Given the description of an element on the screen output the (x, y) to click on. 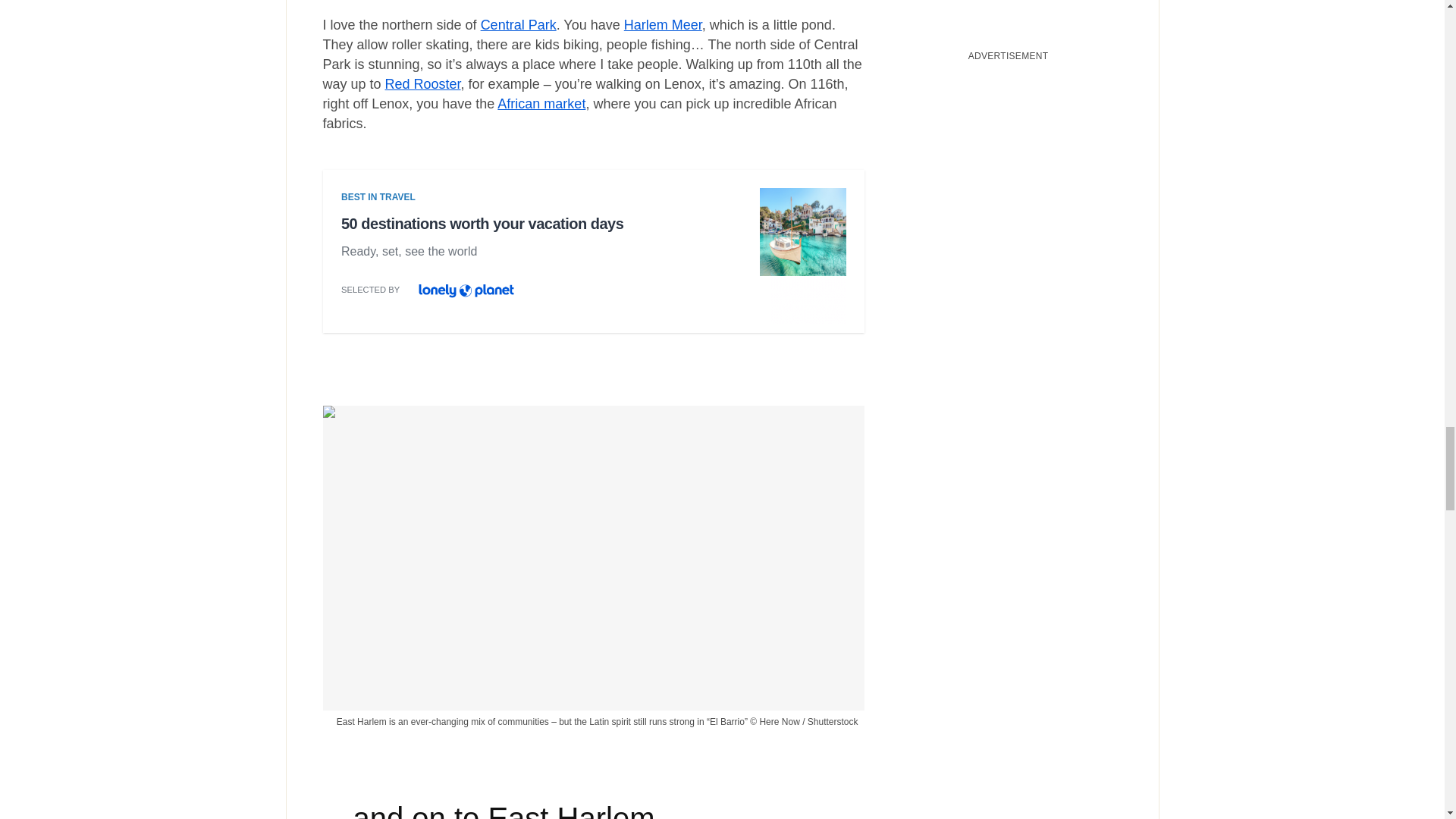
3rd party ad content (592, 255)
